Given the description of an element on the screen output the (x, y) to click on. 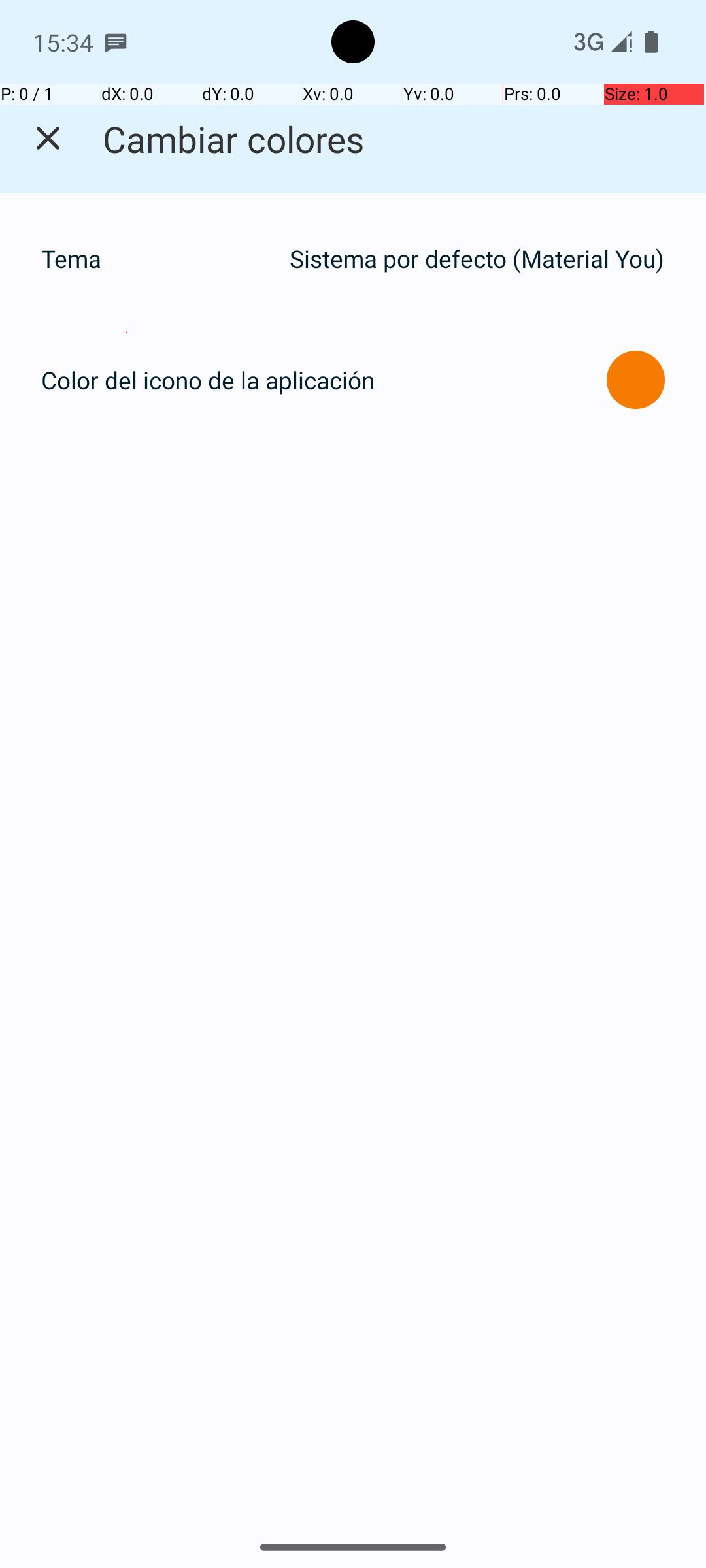
Tema Element type: android.widget.TextView (158, 258)
Sistema por defecto (Material You) Element type: android.widget.TextView (476, 258)
Color del icono de la aplicación Element type: android.widget.TextView (207, 379)
